Given the description of an element on the screen output the (x, y) to click on. 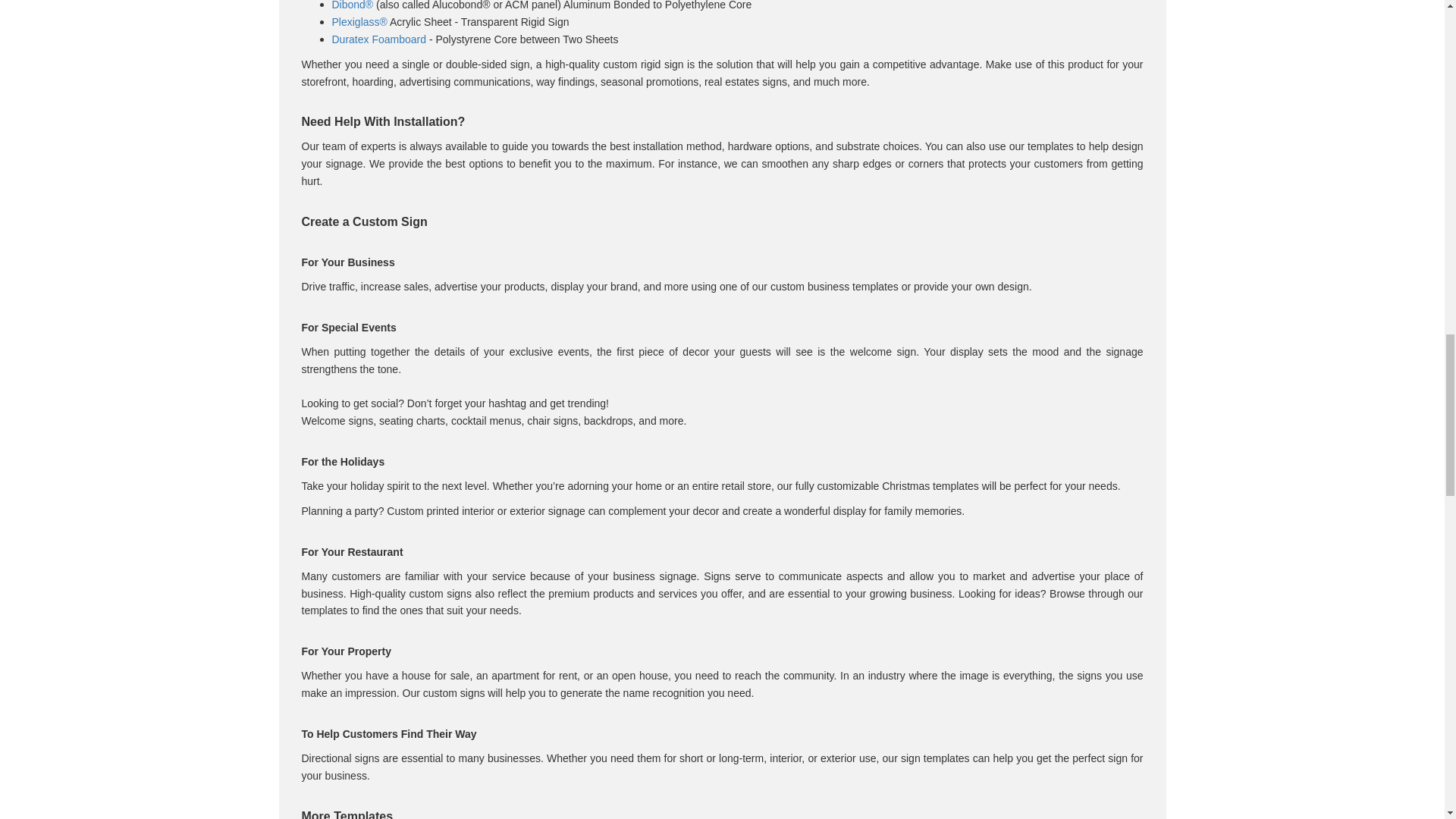
Duratex Foamboard (378, 39)
